Given the description of an element on the screen output the (x, y) to click on. 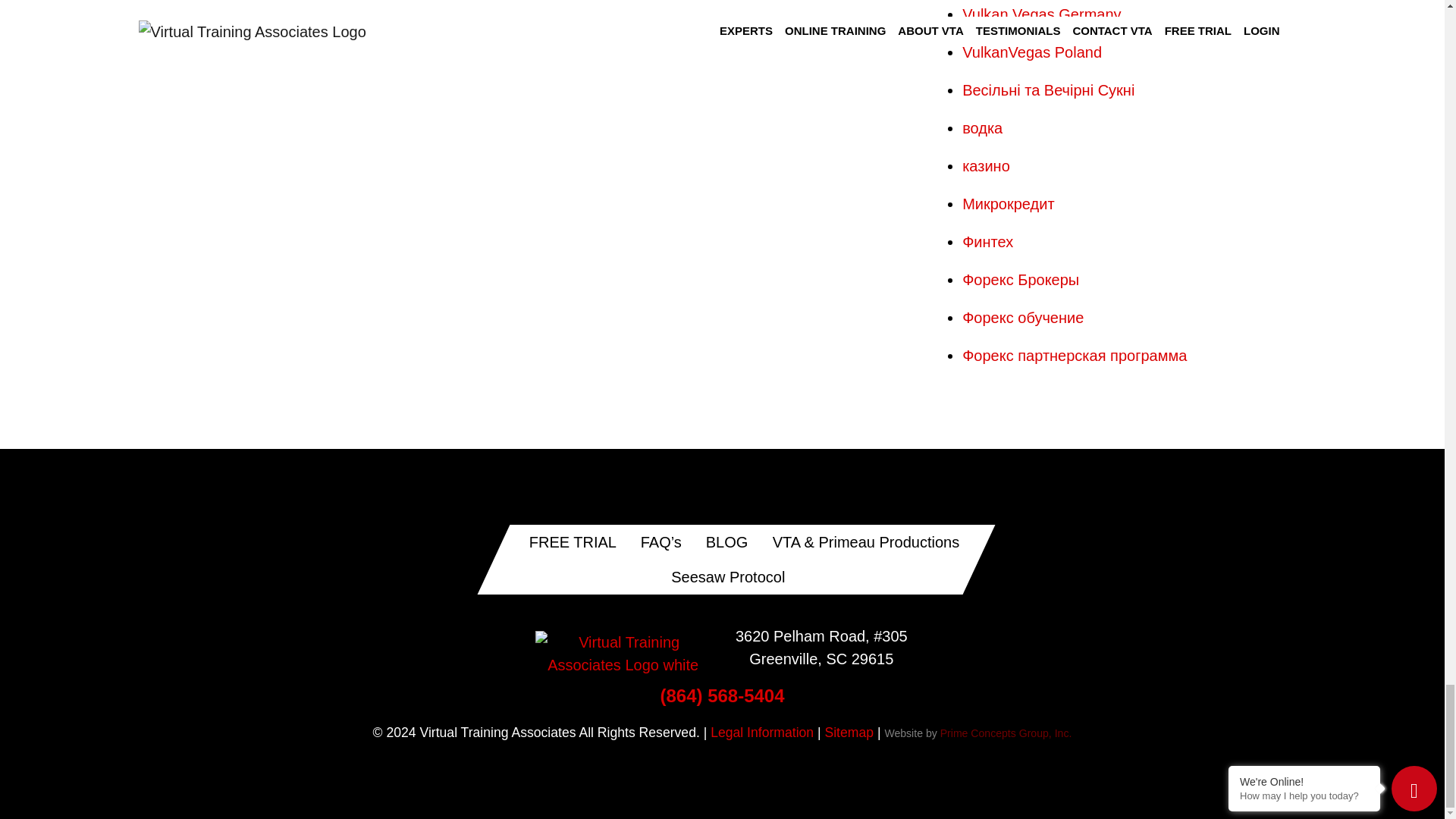
Seesaw Protocol (727, 576)
FREE TRIAL (571, 541)
BLOG (727, 541)
